Given the description of an element on the screen output the (x, y) to click on. 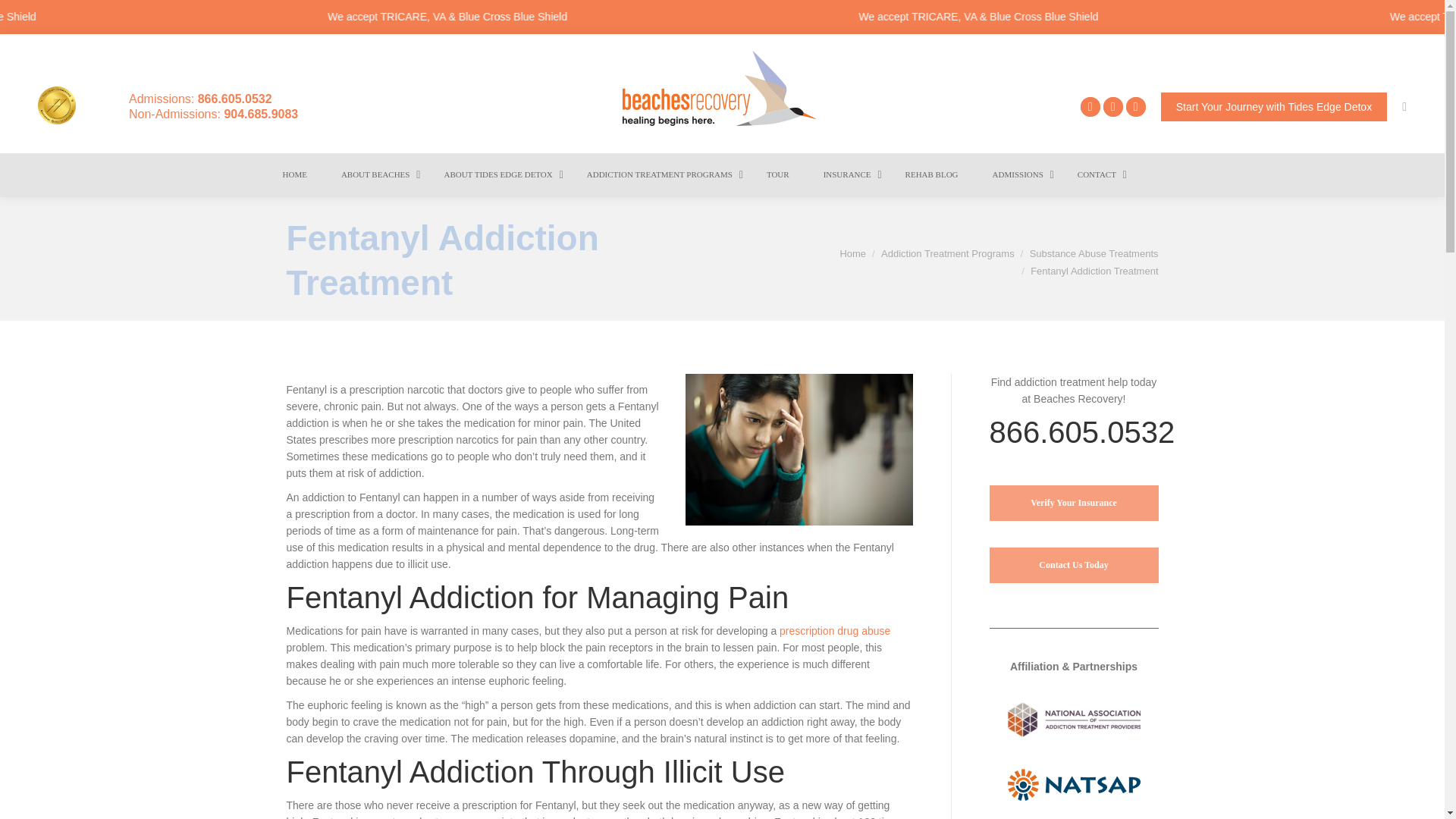
Go! (24, 15)
Instagram page opens in new window (1135, 107)
Admissions: 866.605.0532 (181, 98)
ABOUT TIDES EDGE DETOX (499, 175)
Non-Admissions: 904.685.9083 (194, 113)
Facebook page opens in new window (1090, 107)
YouTube page opens in new window (1112, 107)
Instagram page opens in new window (1135, 107)
Facebook page opens in new window (1090, 107)
Start Your Journey with Tides Edge Detox (1273, 106)
ADDICTION TREATMENT PROGRAMS (661, 175)
HOME (295, 175)
ABOUT BEACHES (377, 175)
YouTube page opens in new window (1112, 107)
